Given the description of an element on the screen output the (x, y) to click on. 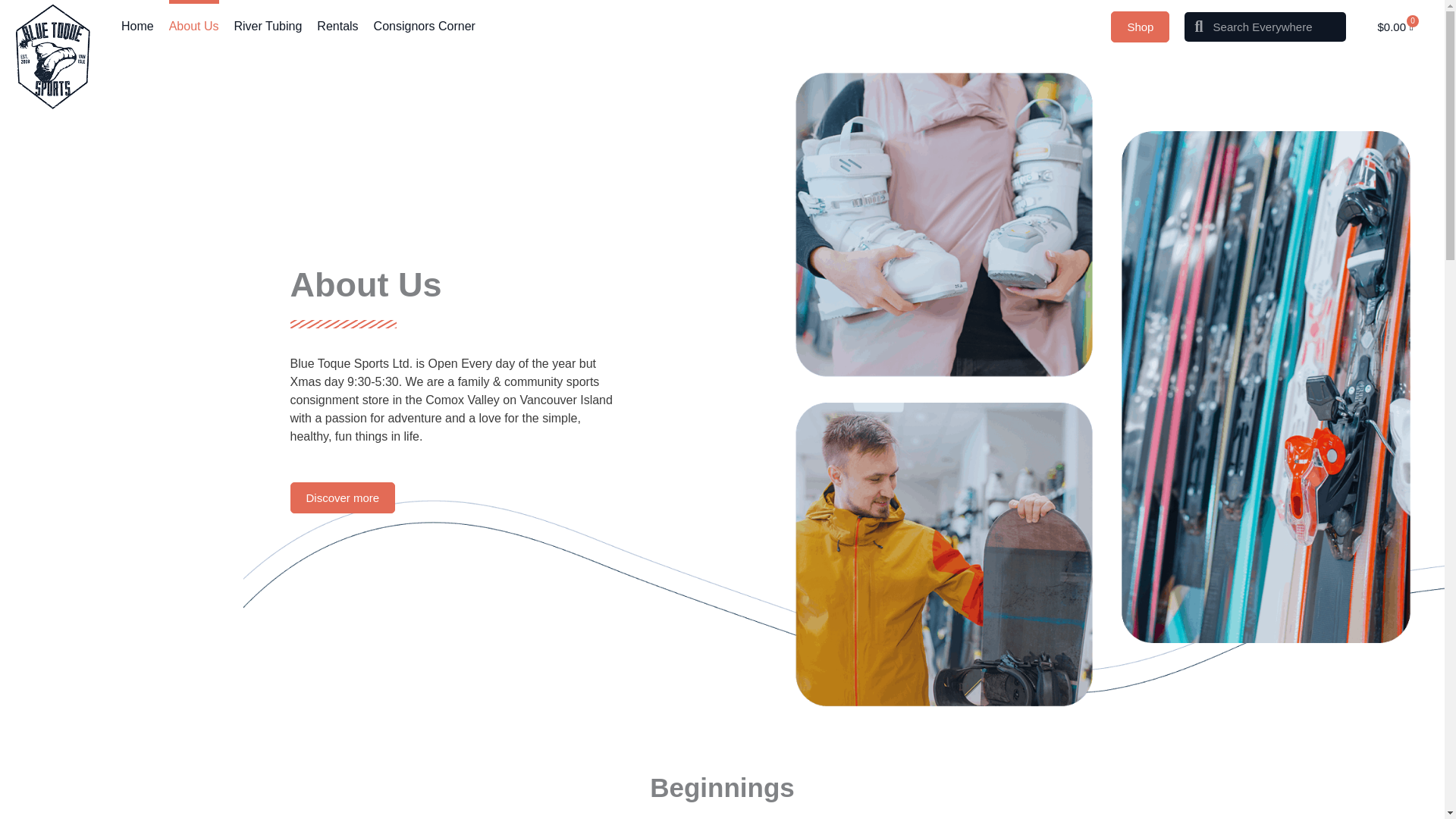
About Us (193, 26)
Shop (1139, 25)
Discover more (341, 497)
Consignors Corner (425, 26)
River Tubing (266, 26)
